Given the description of an element on the screen output the (x, y) to click on. 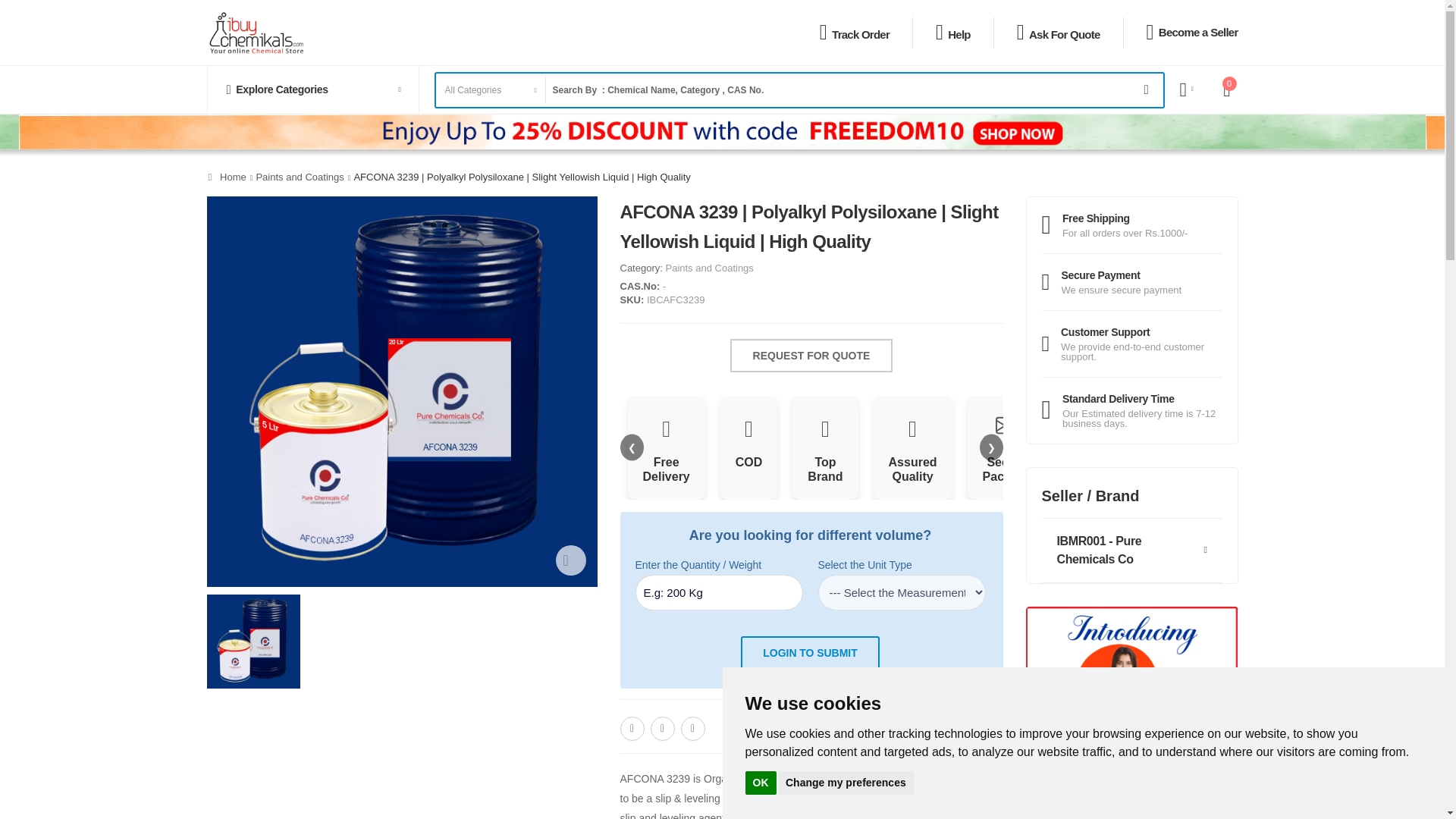
Explore Categories (312, 89)
Track Order (858, 33)
Become a Seller (1196, 31)
Change my preferences (845, 781)
Explore Categories (312, 89)
OK (760, 781)
Ask For Quote (1062, 33)
Help (957, 33)
